Given the description of an element on the screen output the (x, y) to click on. 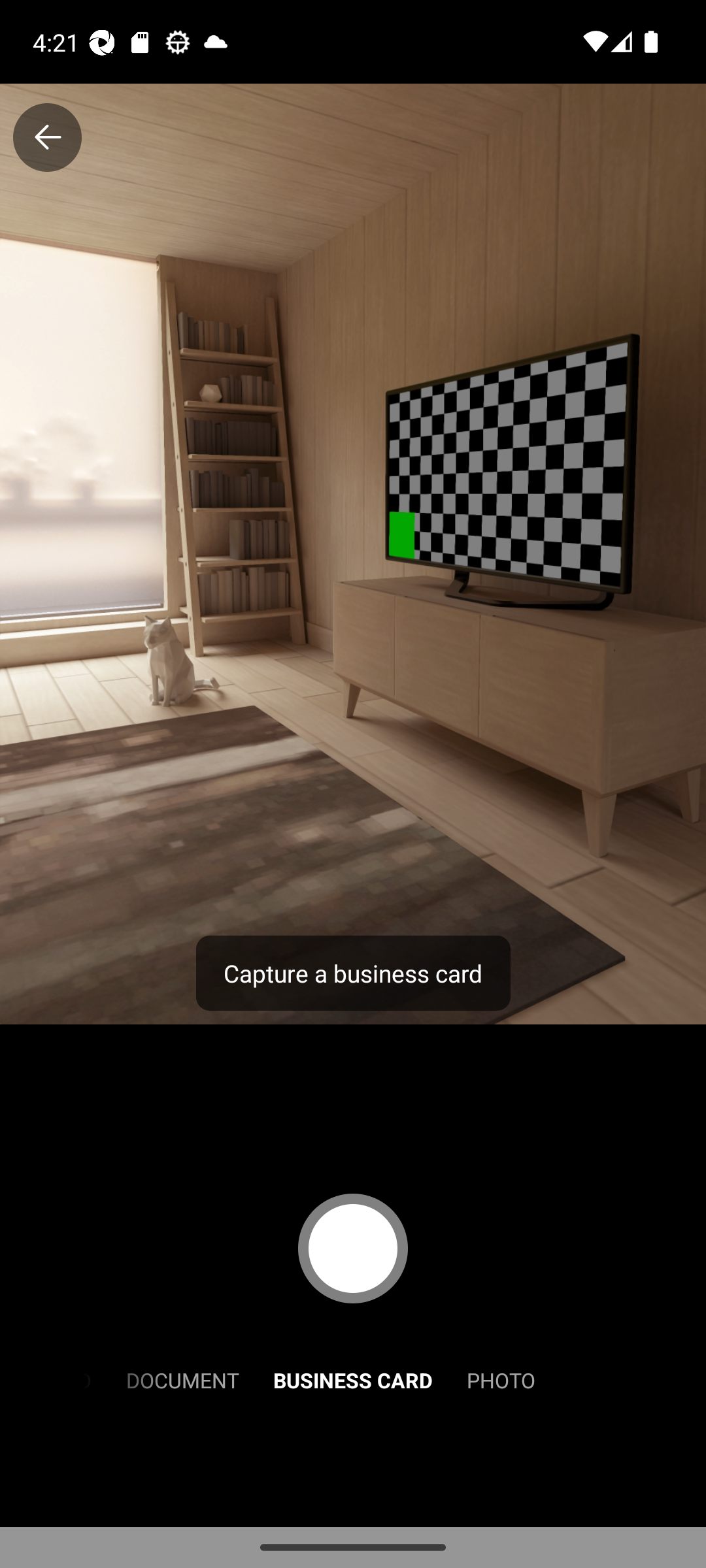
Close (47, 137)
Capture (352, 1248)
DOCUMENT (182, 1379)
BUSINESS CARD (352, 1379)
PHOTO (501, 1379)
